Given the description of an element on the screen output the (x, y) to click on. 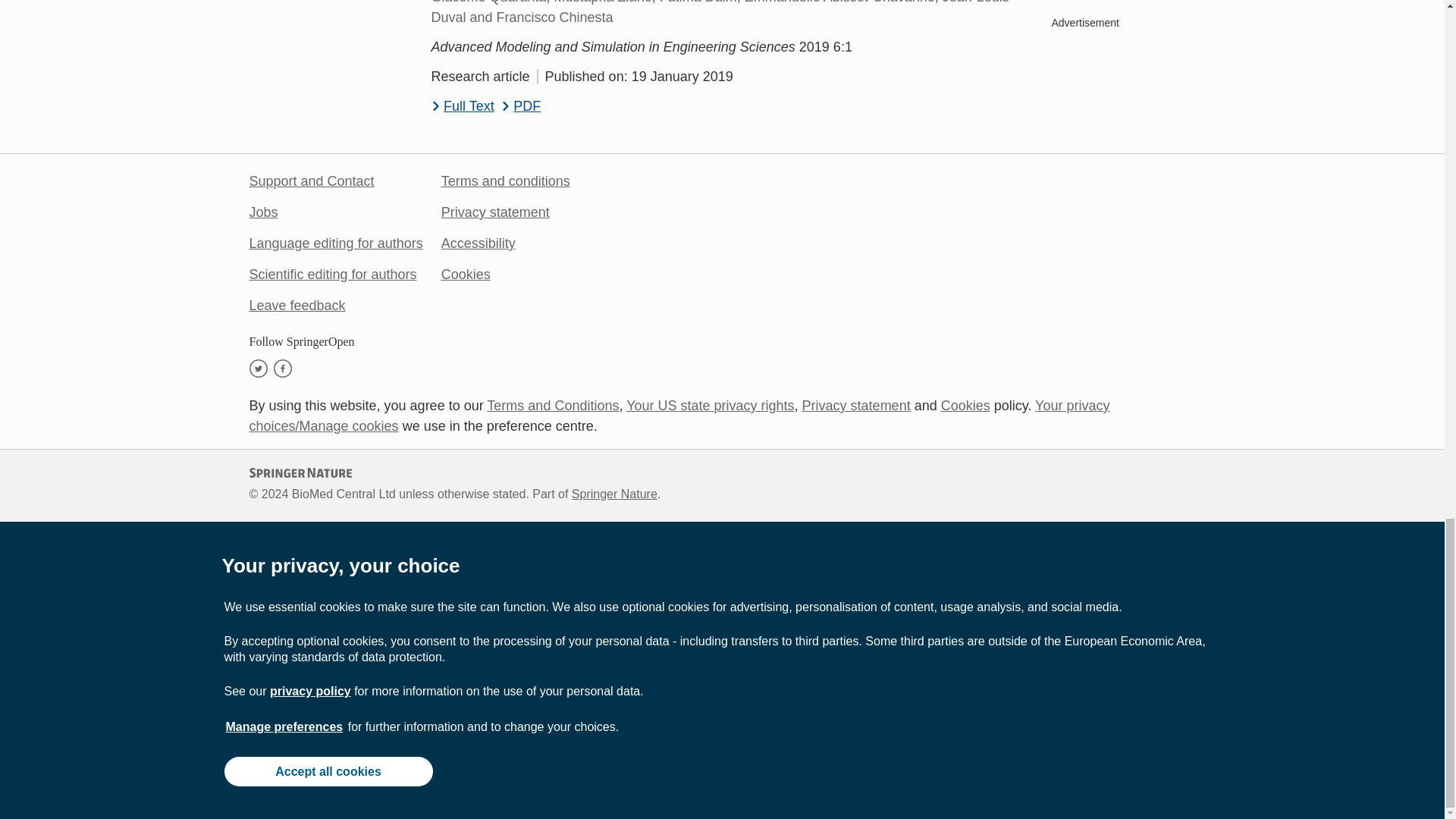
Terms and conditions (505, 181)
Springer Nature (615, 493)
Cookies (965, 405)
Support and Contact (311, 181)
Full Text (461, 106)
Your US state privacy rights (709, 405)
Privacy statement (856, 405)
Language editing for authors (335, 242)
Accessibility (478, 242)
Jobs (263, 212)
Scientific editing for authors (332, 273)
Privacy statement (495, 212)
Leave feedback (296, 305)
Terms and Conditions (552, 405)
PDF (520, 106)
